Given the description of an element on the screen output the (x, y) to click on. 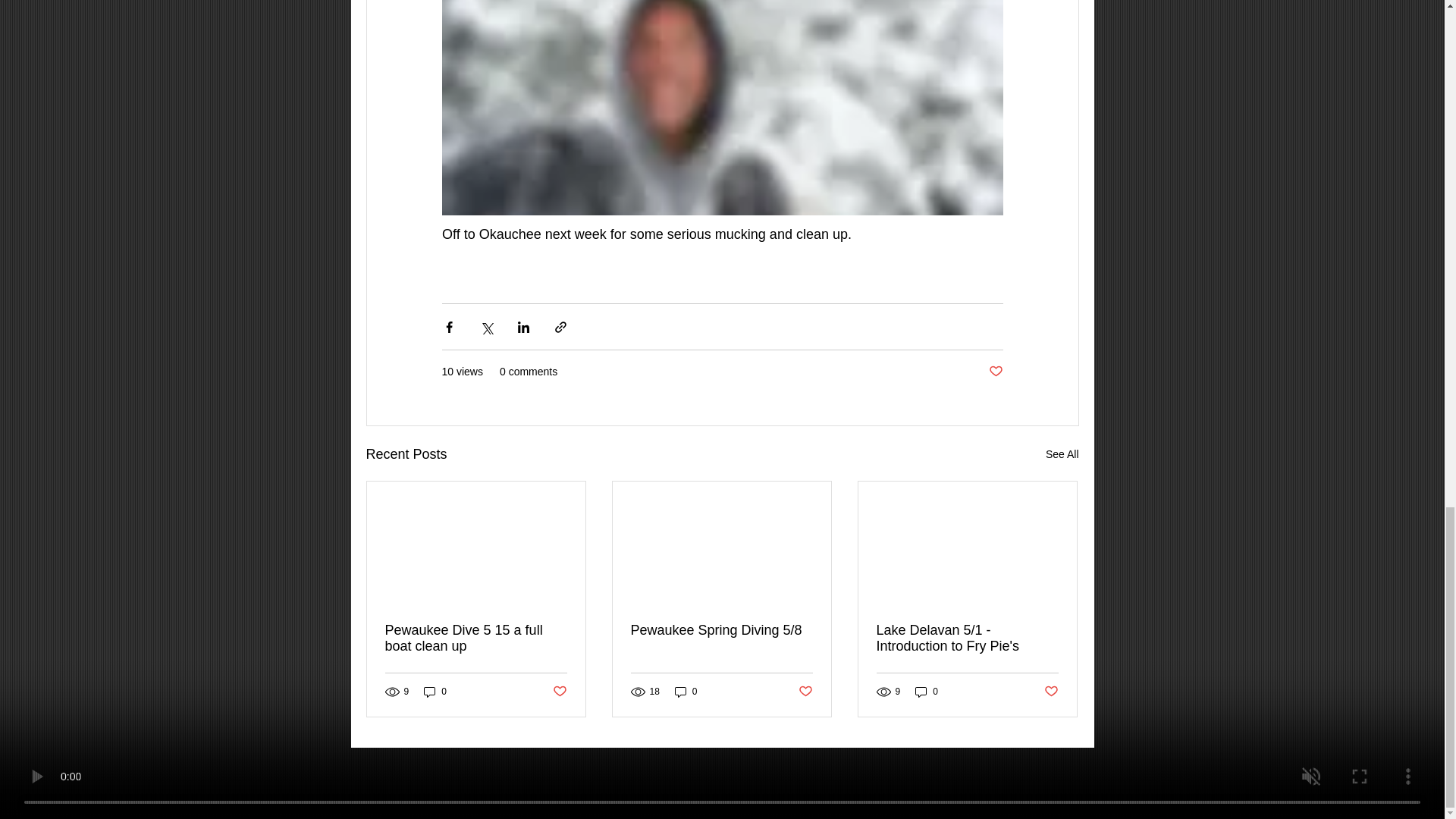
Post not marked as liked (804, 691)
See All (1061, 454)
Post not marked as liked (558, 691)
0 (435, 691)
Pewaukee Dive 5 15 a full boat clean up (476, 638)
Post not marked as liked (1050, 691)
Post not marked as liked (995, 371)
0 (926, 691)
0 (685, 691)
